Given the description of an element on the screen output the (x, y) to click on. 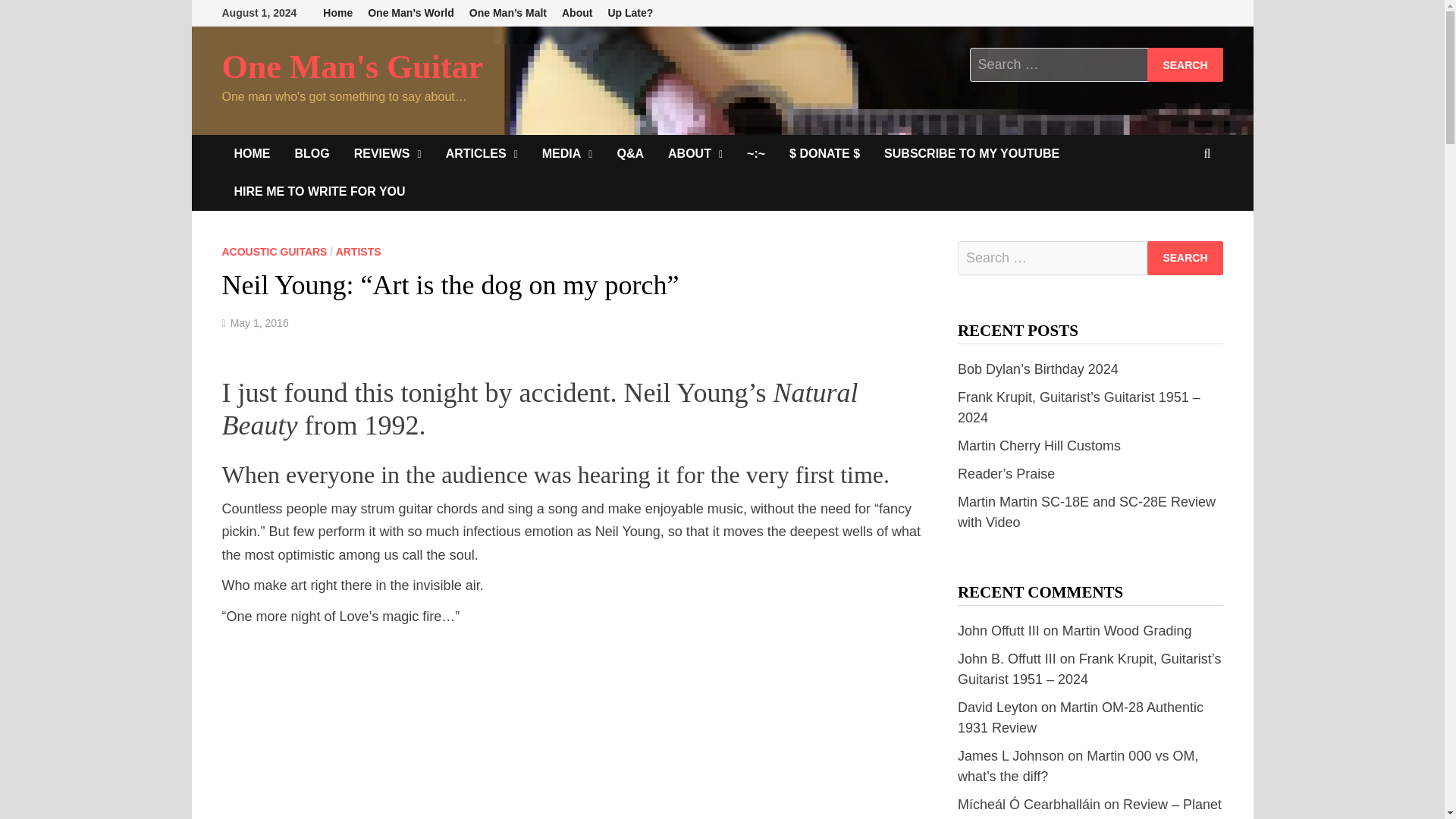
HOME (251, 153)
BLOG (311, 153)
Home (337, 13)
Search (1185, 64)
One Man's Guitar (352, 66)
Search (1185, 64)
Search (1185, 257)
Home Page (251, 153)
The Word on Guitars (311, 153)
About (576, 13)
